Given the description of an element on the screen output the (x, y) to click on. 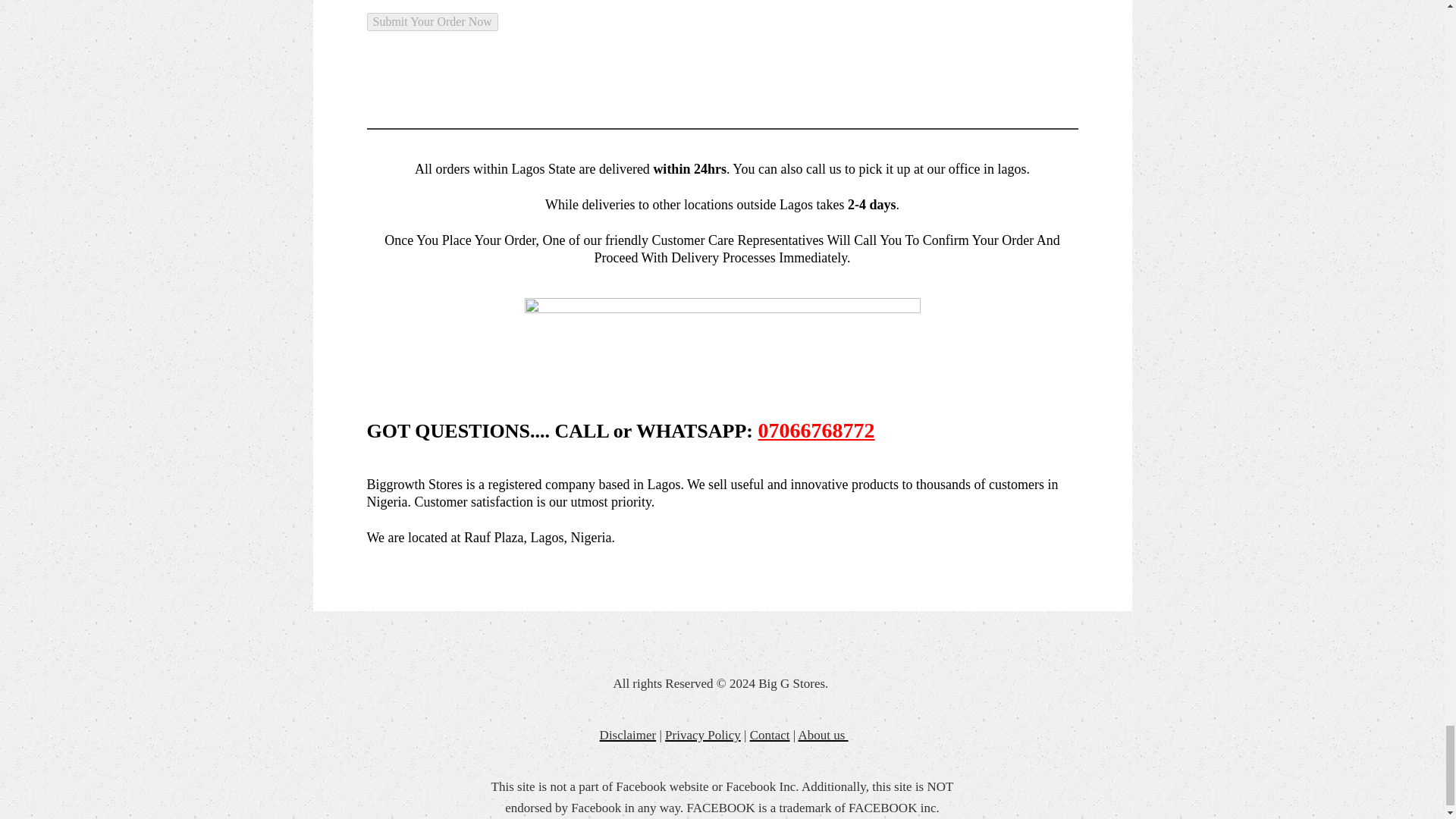
Submit Your Order Now (431, 22)
Submit Your Order Now (431, 22)
Contact (769, 733)
About us  (822, 733)
Privacy Policy (703, 733)
Disclaimer (627, 733)
07066768772 (816, 431)
